Given the description of an element on the screen output the (x, y) to click on. 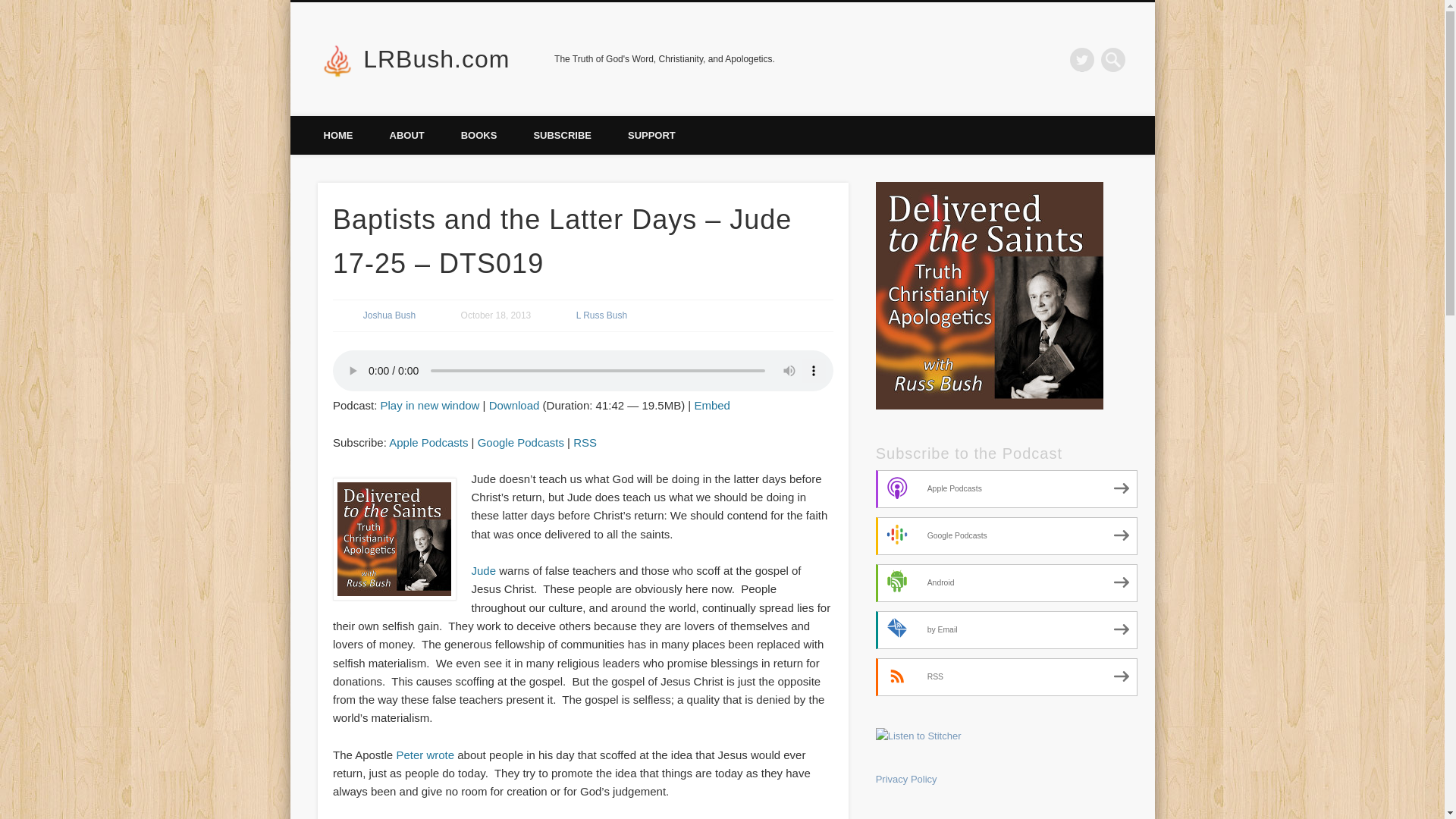
thank you (652, 135)
Search (11, 7)
Jude (483, 570)
Play in new window (430, 404)
Embed (712, 404)
Subscribe via RSS (584, 441)
Google Podcasts (1007, 535)
Peter wrote (425, 754)
Download (514, 404)
Play in new window (430, 404)
Posts by Joshua Bush (388, 315)
who they are (406, 135)
L Russ Bush (601, 315)
Subscribe on Google Podcasts (520, 441)
SUPPORT (652, 135)
